Given the description of an element on the screen output the (x, y) to click on. 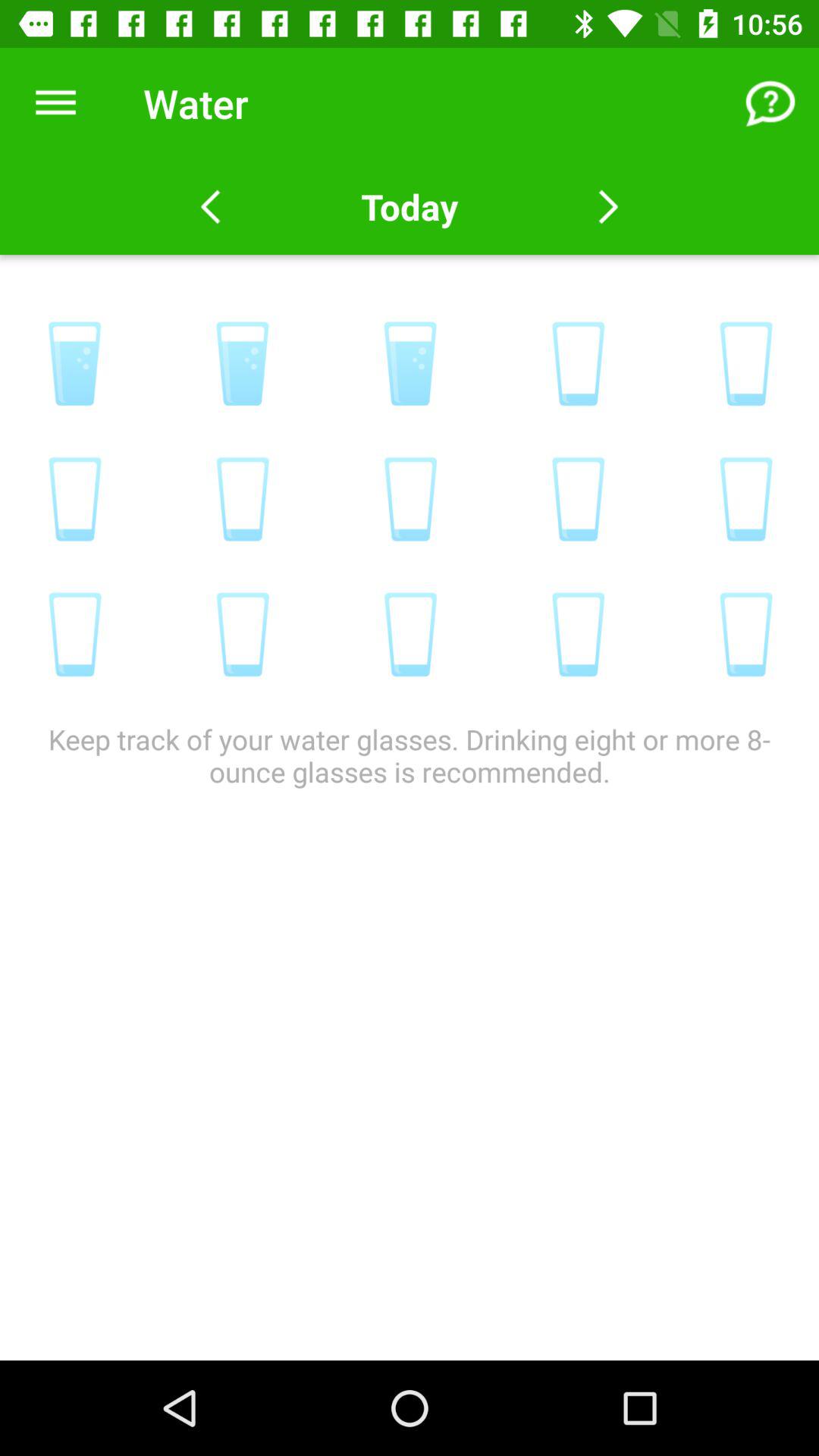
go back option (210, 206)
